Given the description of an element on the screen output the (x, y) to click on. 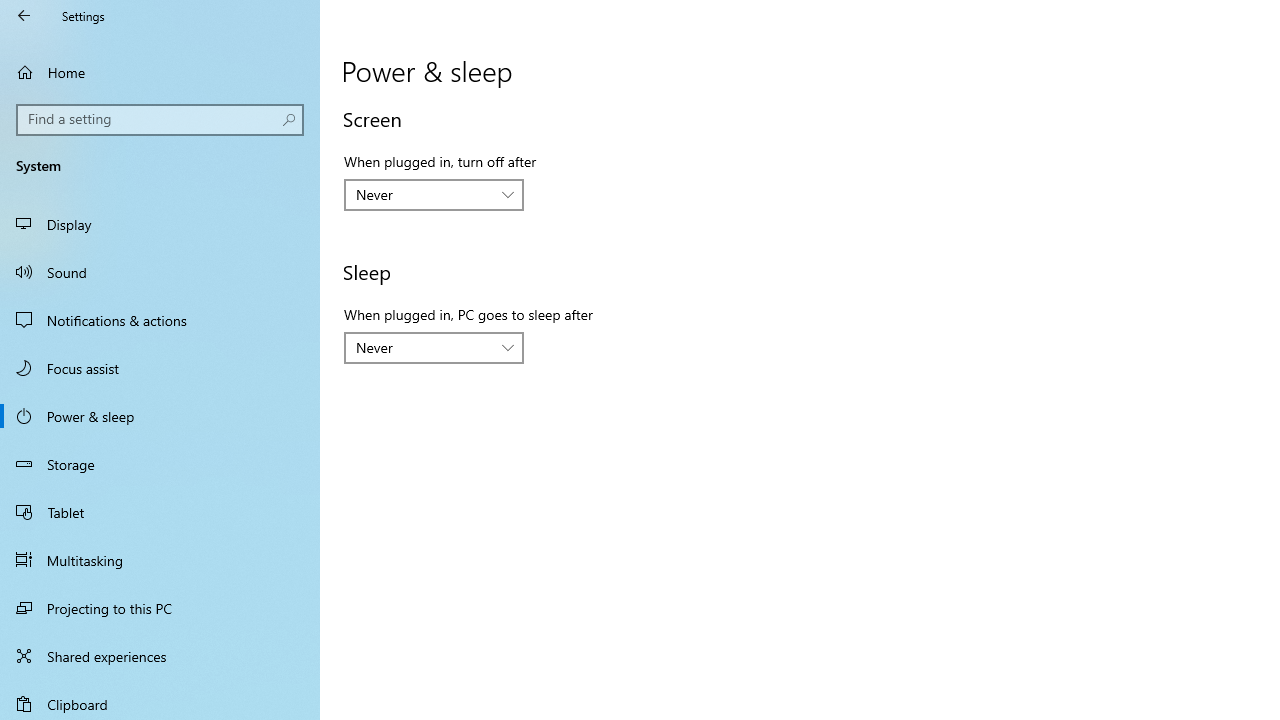
Multitasking (160, 559)
